Given the description of an element on the screen output the (x, y) to click on. 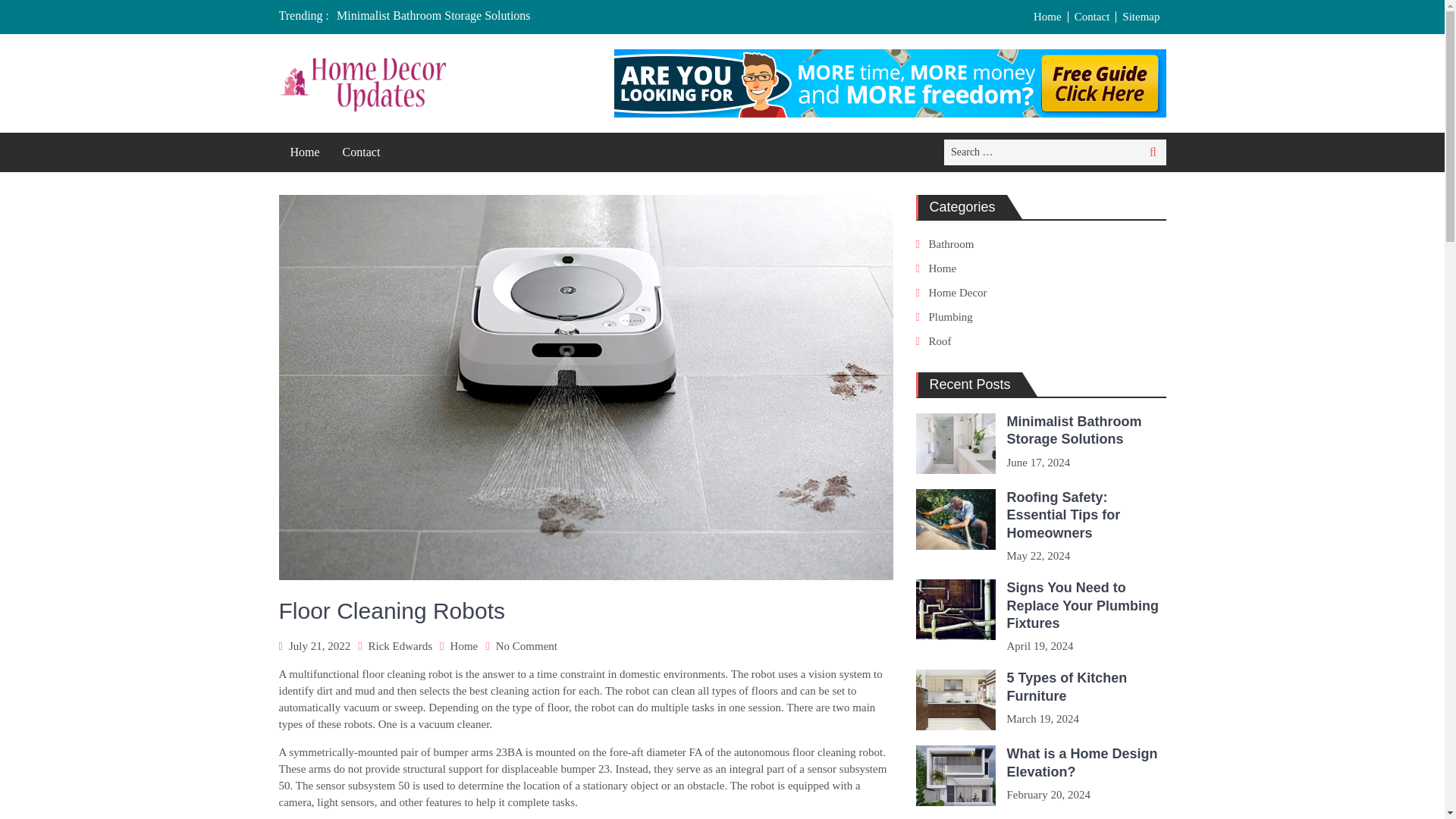
Home (942, 268)
Minimalist Bathroom Storage Solutions (433, 15)
Home (1047, 16)
July 21, 2022 (319, 645)
Bathroom (951, 244)
Sitemap (1141, 16)
Home Decor (957, 292)
Home (464, 645)
Rick Edwards (400, 645)
Search (1153, 152)
Contact (1092, 16)
Plumbing (950, 316)
Home (305, 151)
Contact (526, 645)
